Given the description of an element on the screen output the (x, y) to click on. 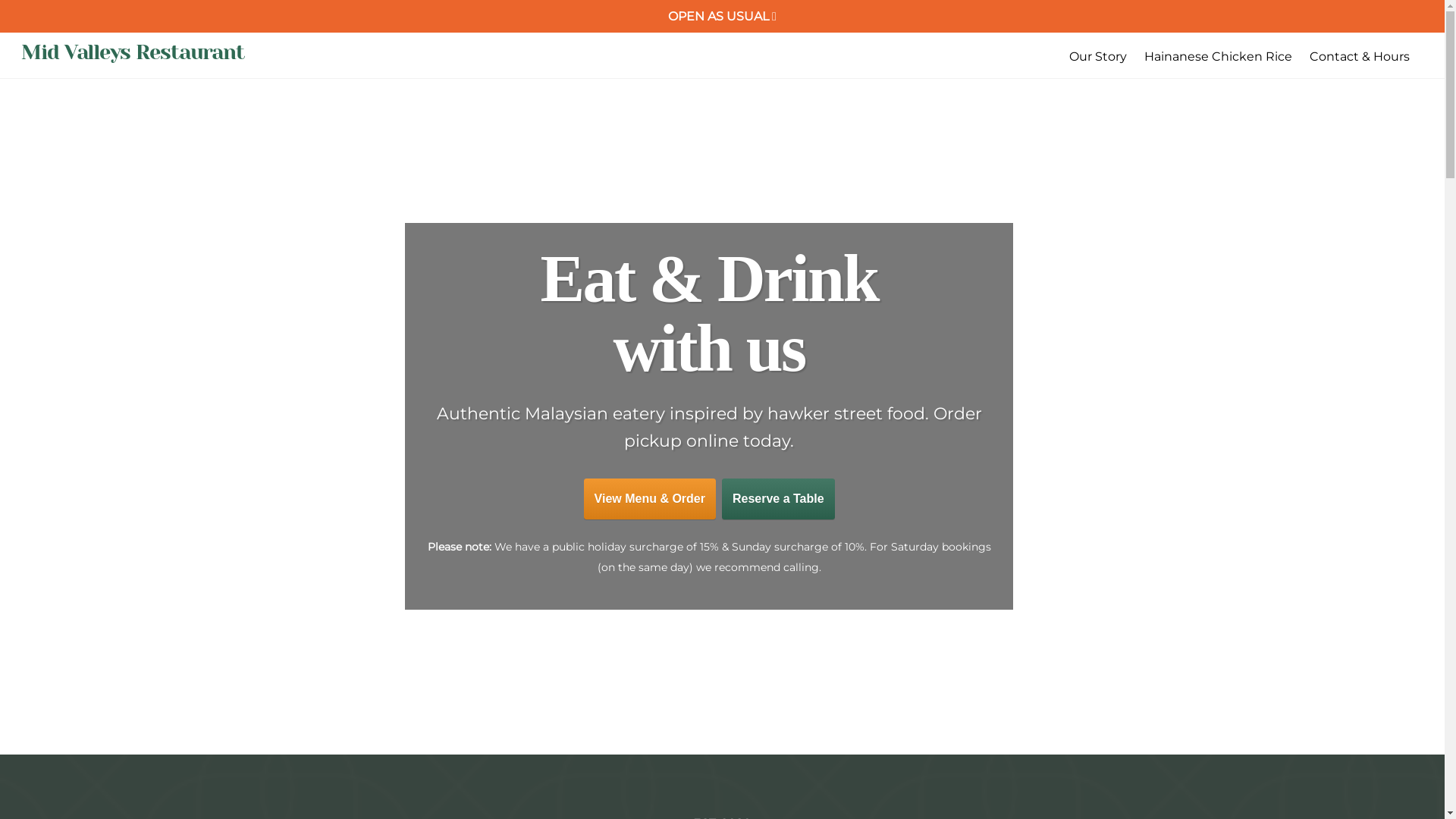
Hainanese Chicken Rice Element type: text (1218, 56)
Contact & Hours Element type: text (1359, 56)
Our Story Element type: text (1097, 56)
Mid Valleys Restaurant Element type: text (132, 52)
